Given the description of an element on the screen output the (x, y) to click on. 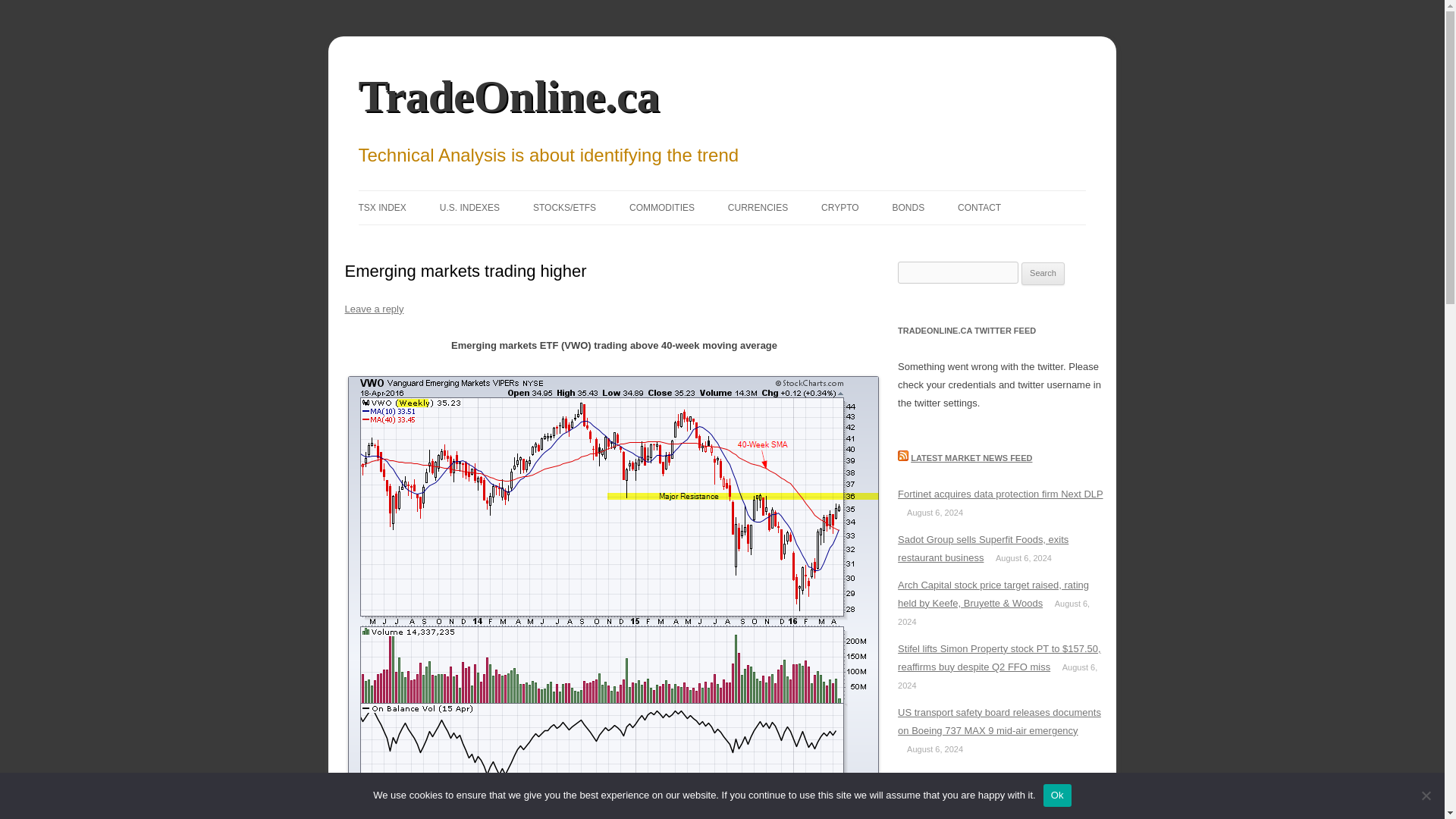
Fortinet acquires data protection firm Next DLP (1000, 493)
Sadot Group sells Superfit Foods, exits restaurant business (983, 548)
TSX INDEX (382, 207)
BONDS (908, 207)
COMMODITIES (661, 207)
CURRENCIES (757, 207)
TradeOnline.ca (508, 96)
U.S. INDEXES (469, 207)
CRYPTO (840, 207)
Search (1043, 273)
Search (1043, 273)
CONTACT (979, 207)
